Given the description of an element on the screen output the (x, y) to click on. 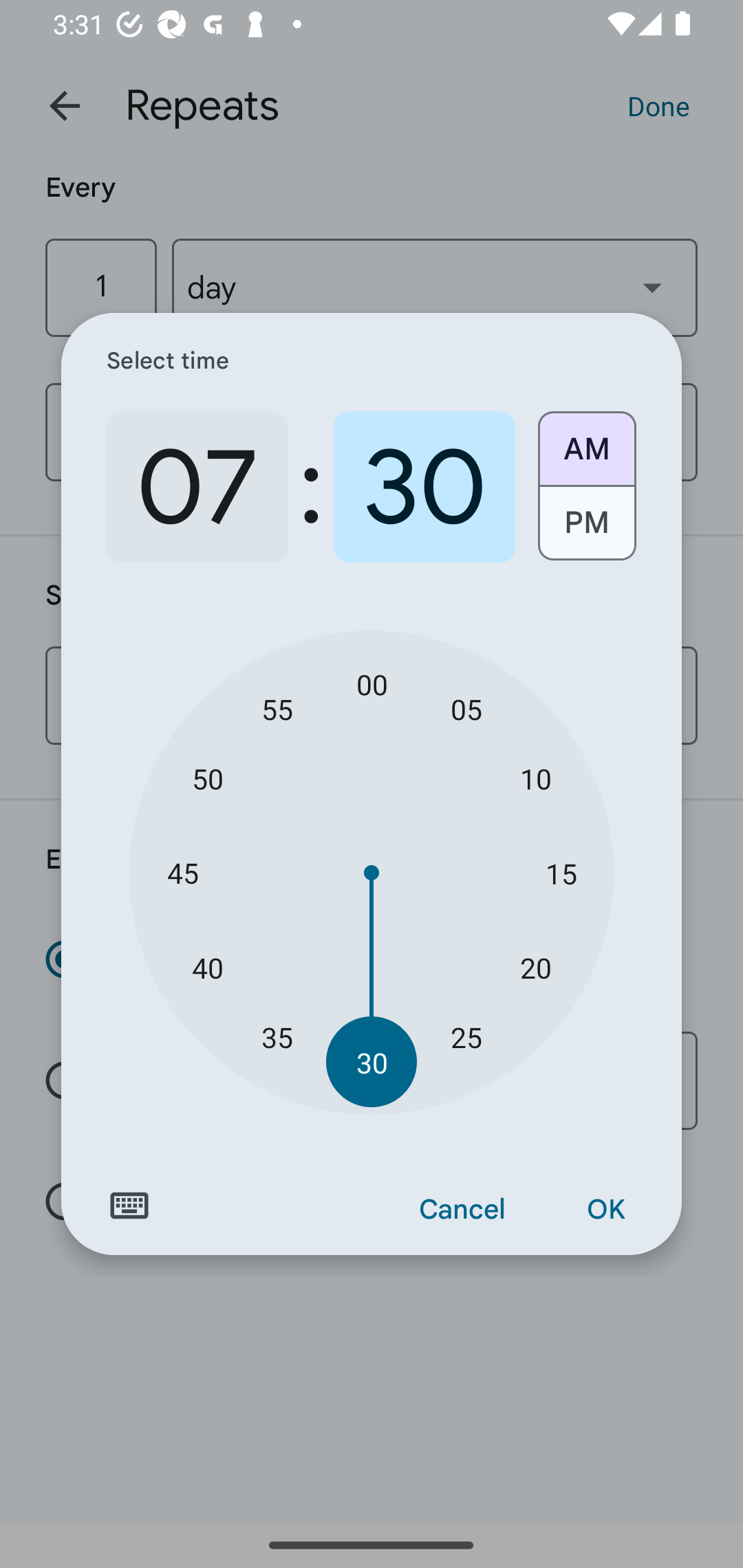
AM (586, 441)
07 7 o'clock (197, 486)
30 30 minutes (424, 486)
PM (586, 529)
00 00 minutes (371, 683)
55 55 minutes (276, 708)
05 05 minutes (466, 708)
50 50 minutes (207, 778)
10 10 minutes (535, 778)
45 45 minutes (182, 872)
15 15 minutes (561, 872)
40 40 minutes (207, 966)
20 20 minutes (535, 966)
35 35 minutes (276, 1035)
25 25 minutes (466, 1035)
30 30 minutes (371, 1062)
Switch to text input mode for the time input. (128, 1205)
Cancel (462, 1209)
OK (605, 1209)
